Given the description of an element on the screen output the (x, y) to click on. 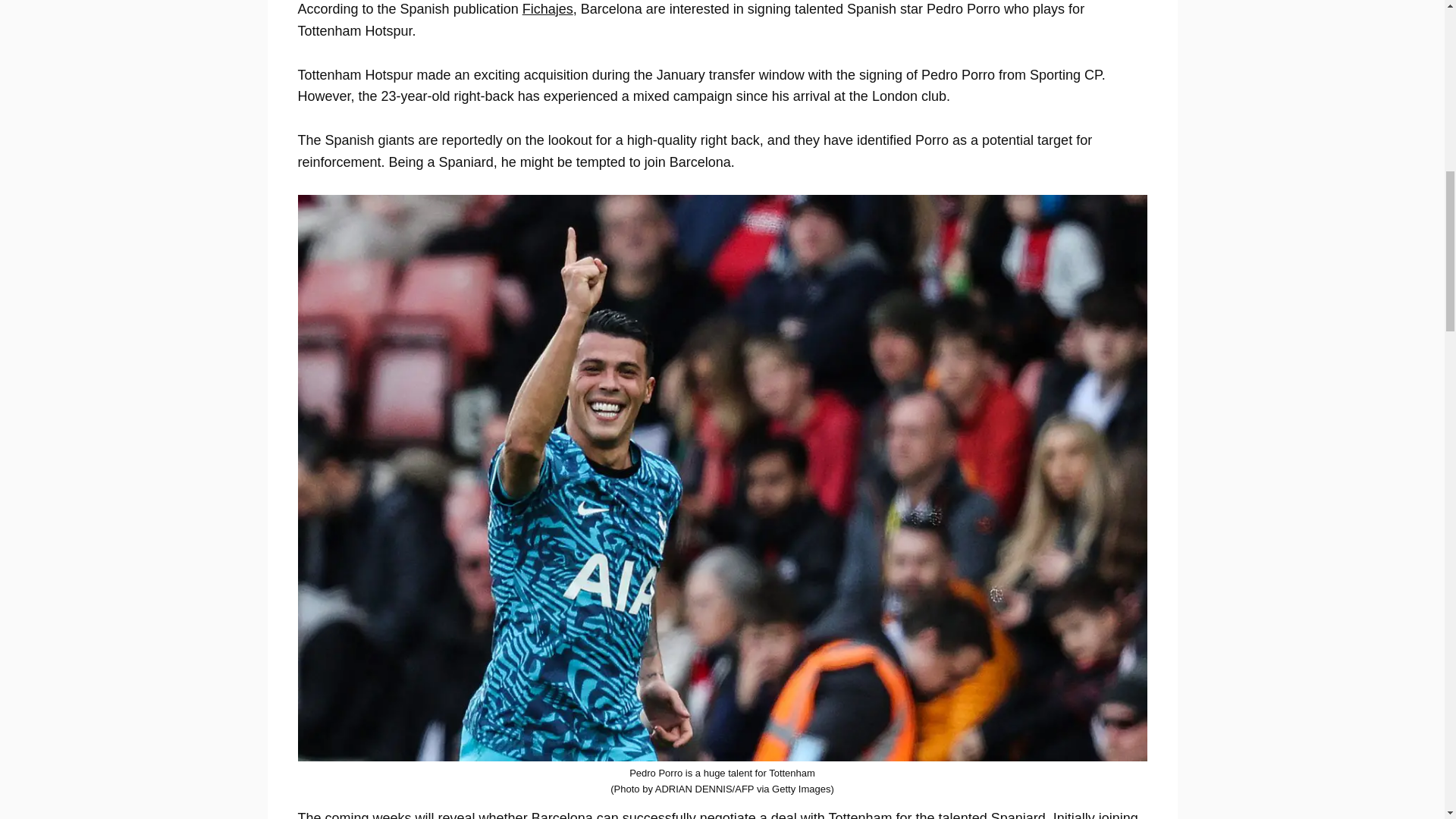
Fichajes (547, 8)
